Given the description of an element on the screen output the (x, y) to click on. 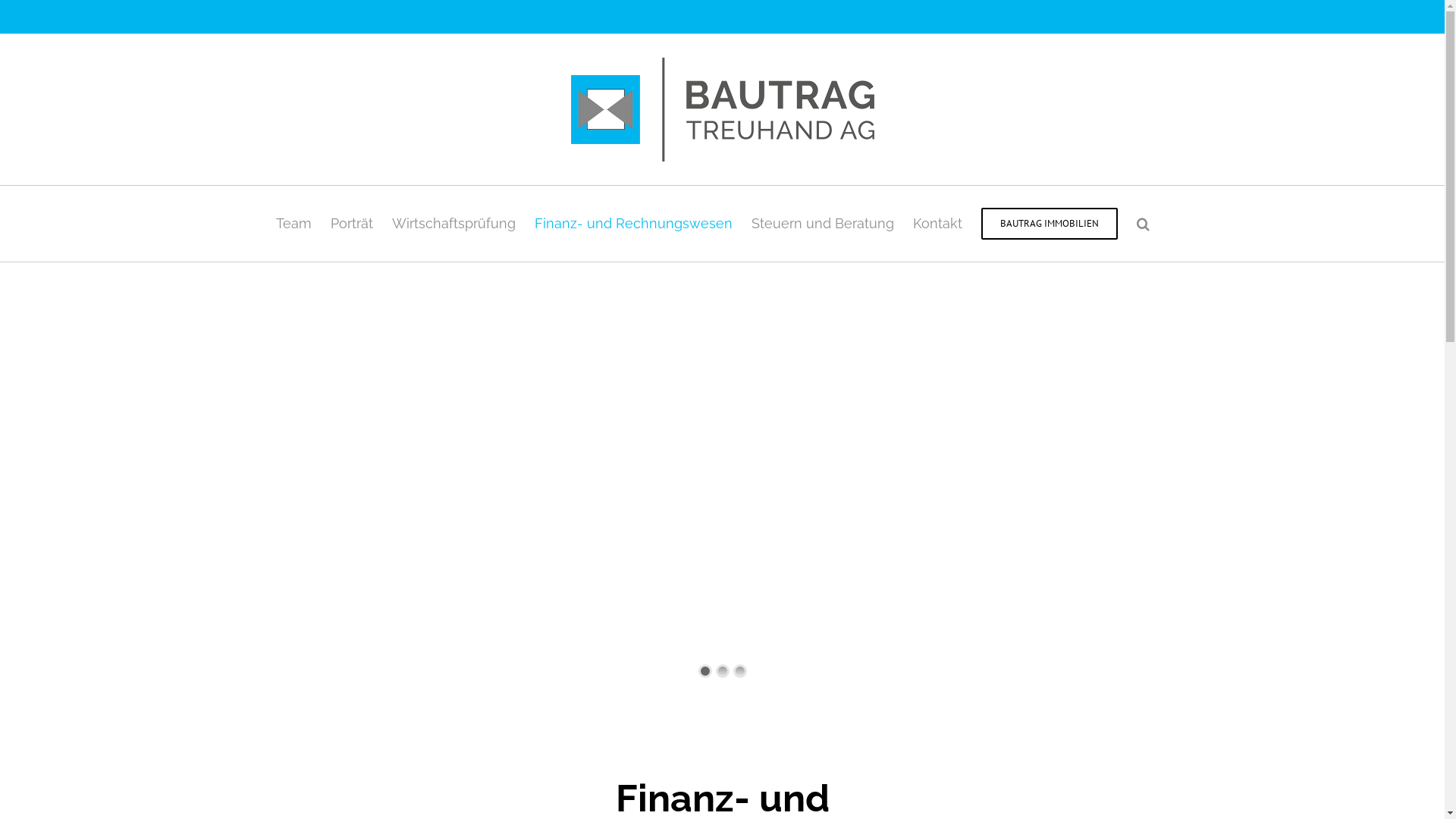
Steuern und Beratung Element type: text (822, 223)
Finanz- und Rechnungswesen Element type: text (633, 223)
Kontakt Element type: text (937, 223)
Suche Element type: hover (1142, 223)
Team Element type: text (293, 223)
BAUTRAG IMMOBILIEN Element type: text (1049, 223)
